Given the description of an element on the screen output the (x, y) to click on. 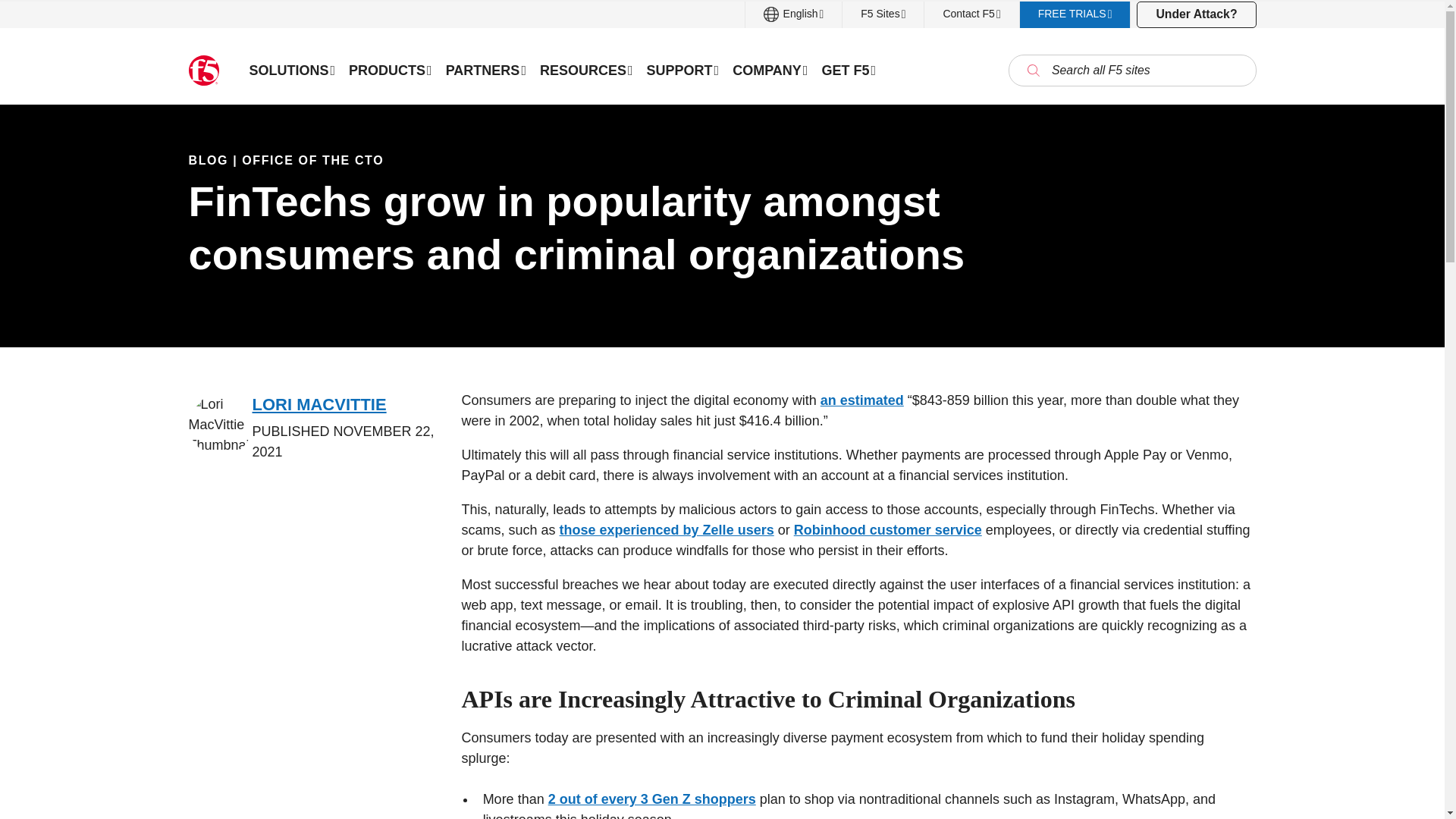
F5 Sites (883, 13)
COMPANY (769, 69)
FREE TRIALS (1075, 13)
Under Attack? (1196, 14)
English (794, 13)
those experienced by Zelle users (666, 529)
SOLUTIONS (292, 69)
SUPPORT (683, 69)
GET F5 (847, 69)
PARTNERS (485, 69)
Contact F5 (970, 13)
PRODUCTS (390, 69)
F5 (202, 70)
Robinhood customer service (887, 529)
LORI MACVITTIE (319, 404)
